Given the description of an element on the screen output the (x, y) to click on. 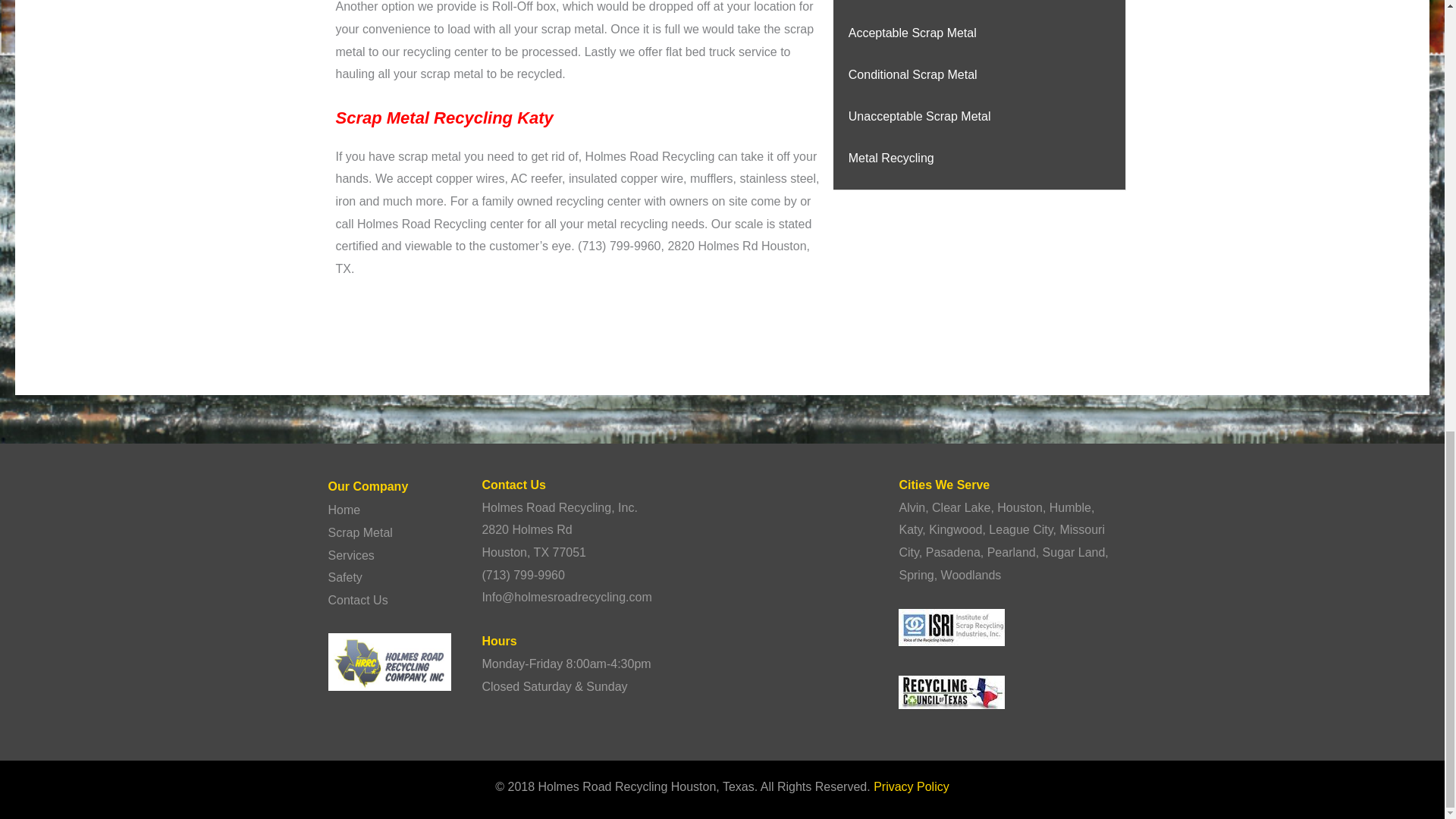
Conditional Scrap Metal (912, 74)
Acceptable Scrap Metal (912, 32)
Unacceptable Scrap Metal (919, 115)
Safety (344, 576)
Home (343, 509)
Scrap Metal (359, 532)
Contact Us (357, 599)
Services (350, 554)
Metal Recycling (891, 157)
